Given the description of an element on the screen output the (x, y) to click on. 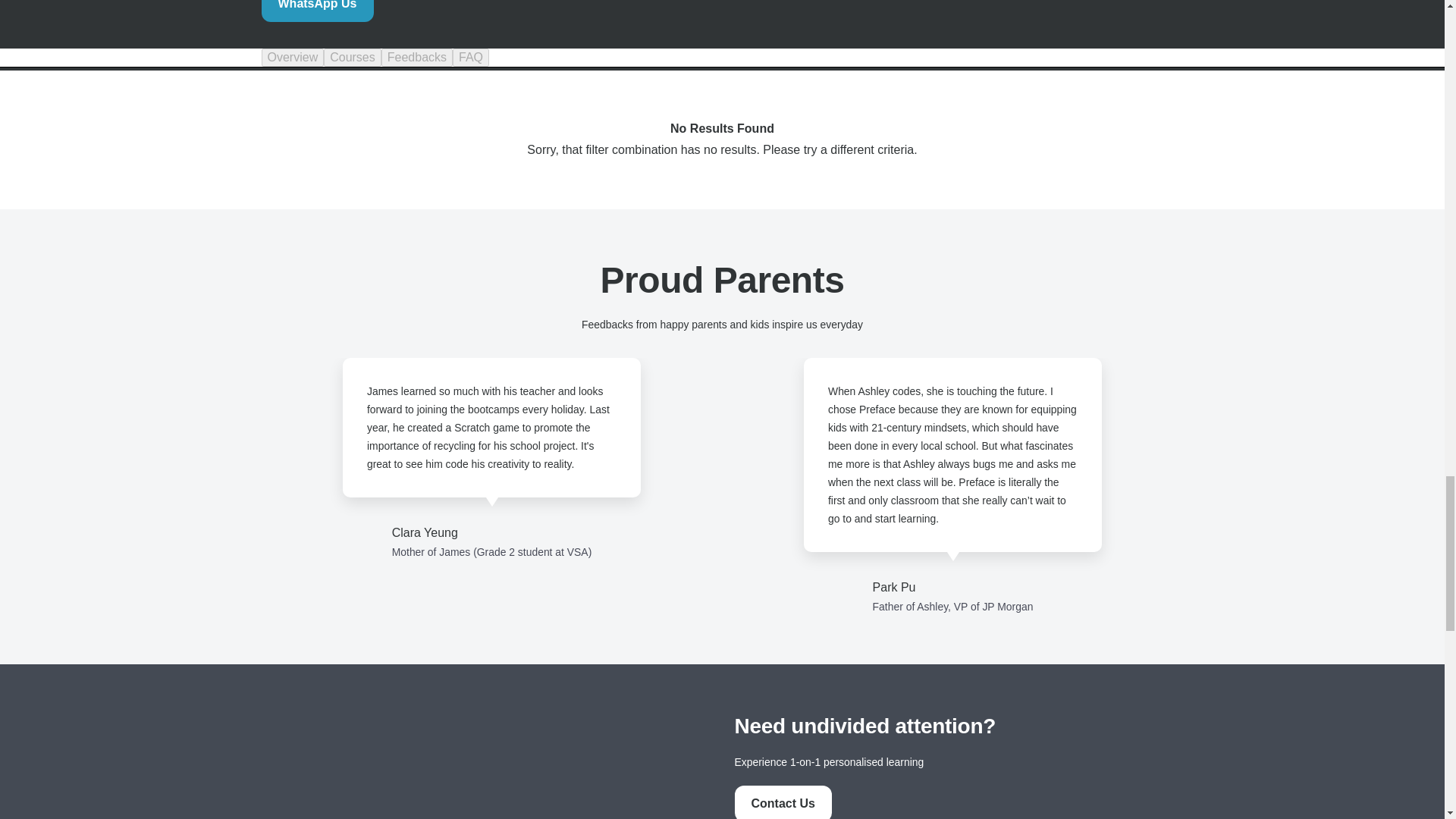
Contact Us (782, 802)
Contact Us (782, 802)
WhatsApp Us (316, 11)
